Given the description of an element on the screen output the (x, y) to click on. 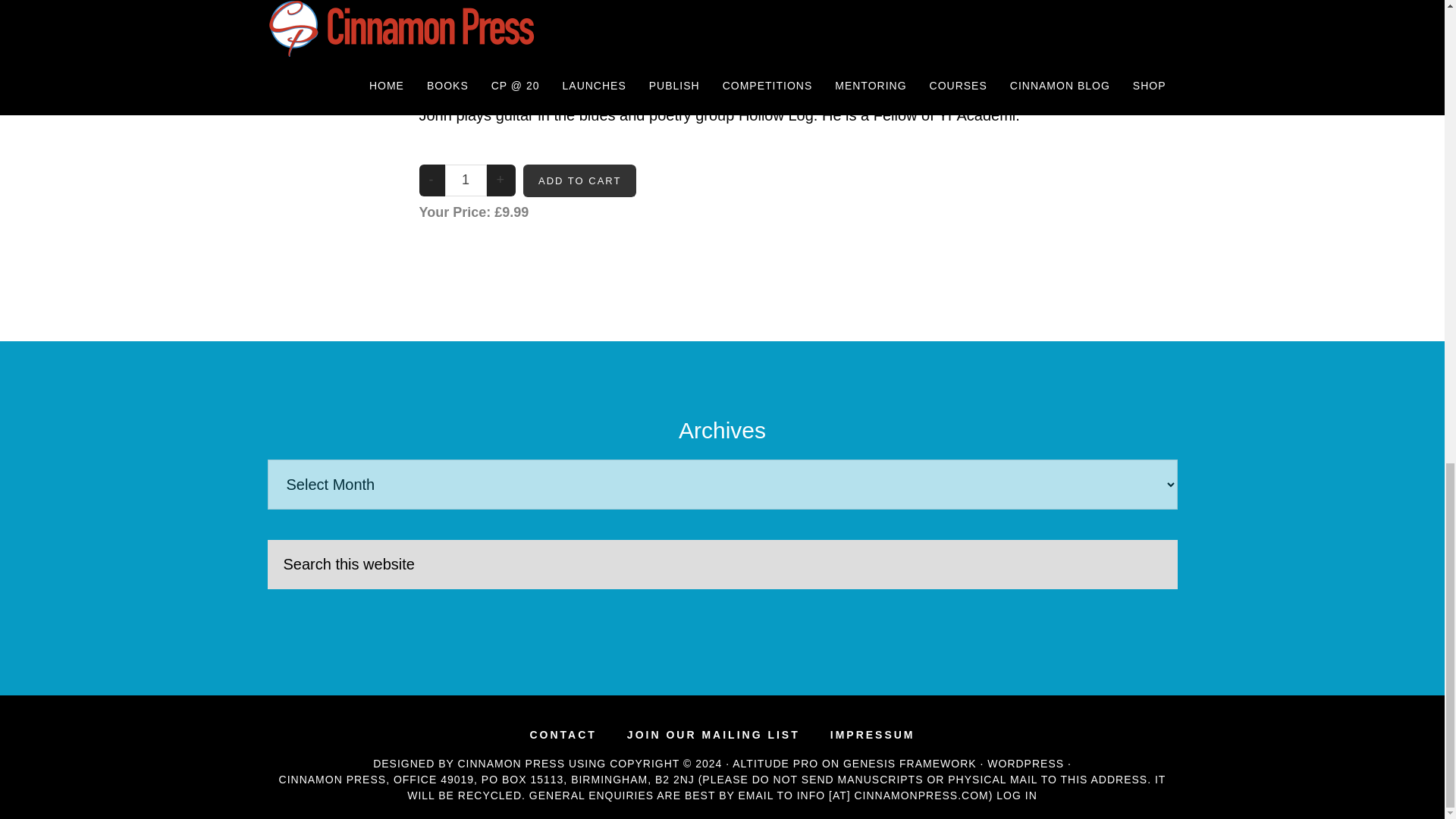
ADD TO CART (579, 181)
1 (465, 180)
